Given the description of an element on the screen output the (x, y) to click on. 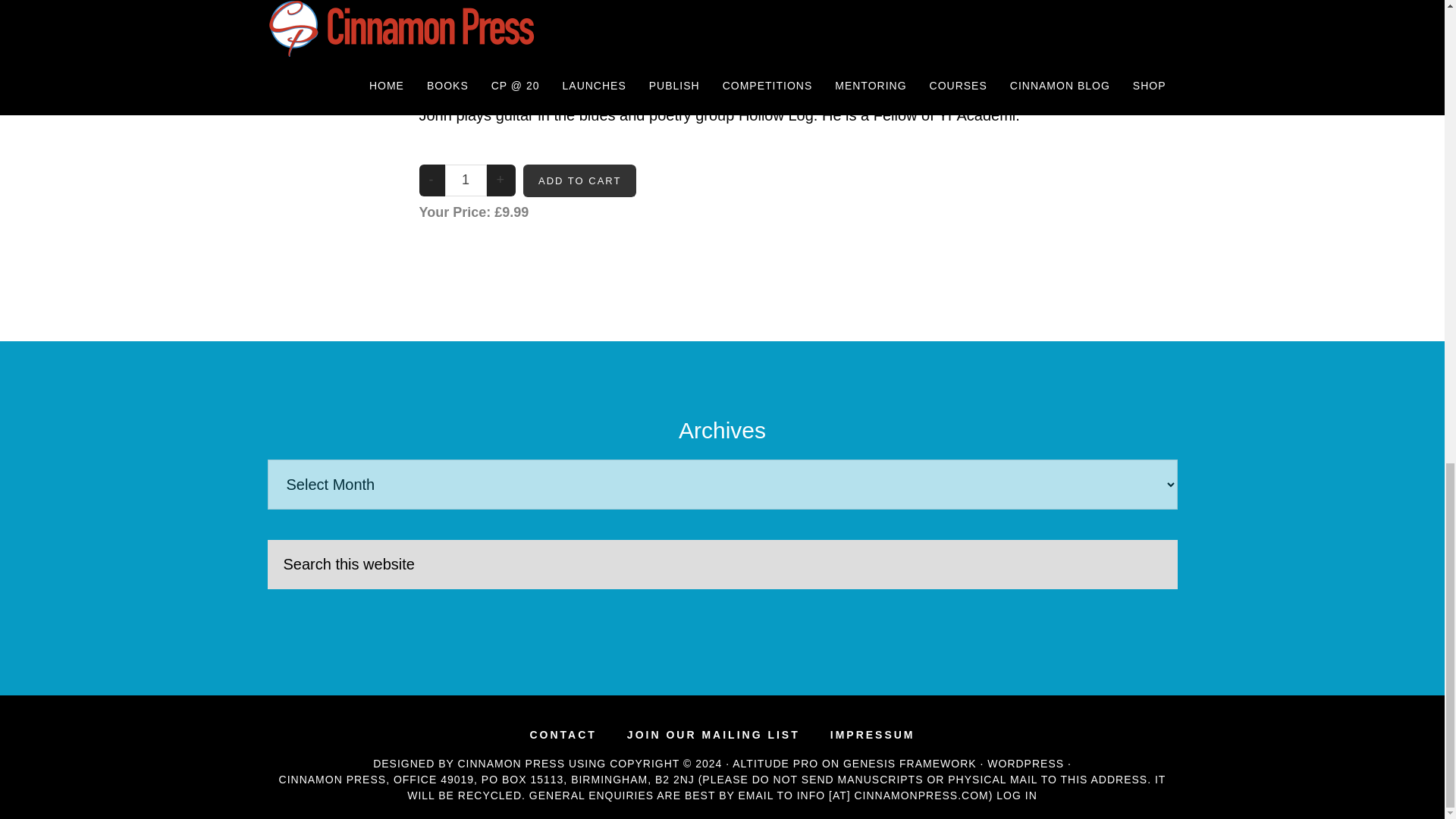
ADD TO CART (579, 181)
1 (465, 180)
